Given the description of an element on the screen output the (x, y) to click on. 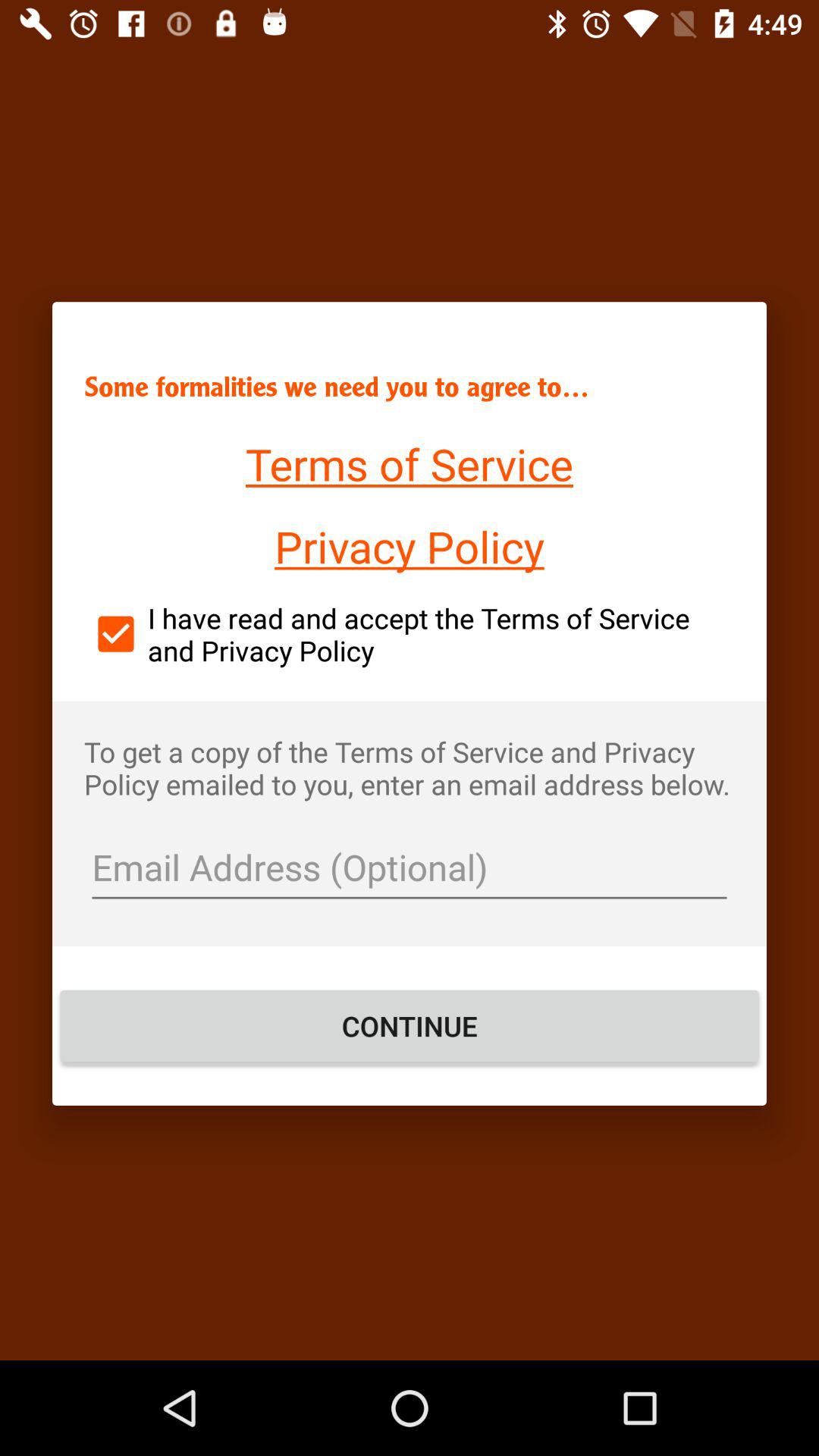
tap icon above the to get a icon (409, 634)
